Given the description of an element on the screen output the (x, y) to click on. 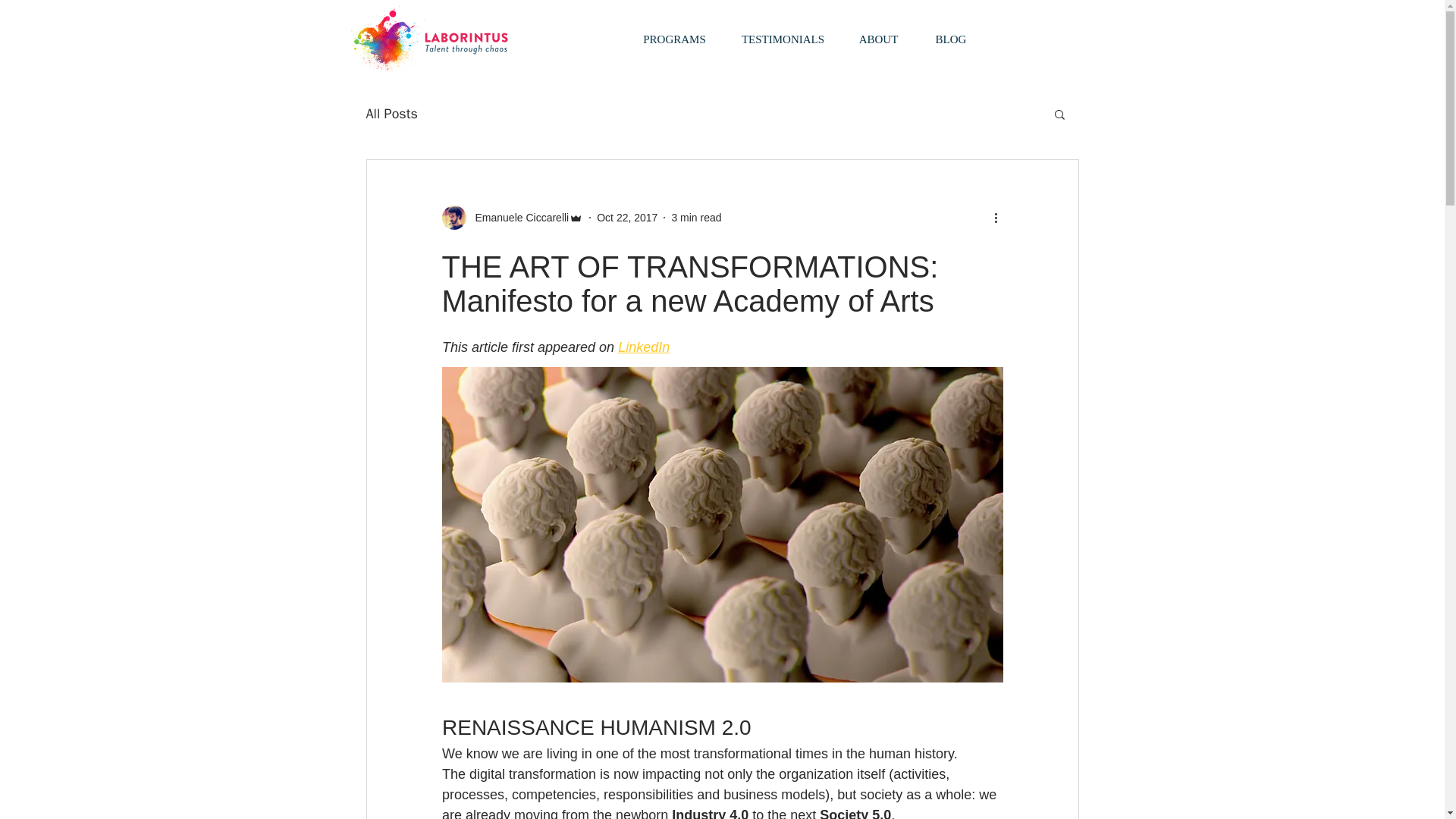
TESTIMONIALS (782, 39)
LinkedIn (643, 346)
ABOUT (877, 39)
All Posts (390, 113)
3 min read (695, 216)
PROGRAMS (674, 39)
Emanuele Ciccarelli (512, 217)
Emanuele Ciccarelli (517, 217)
Oct 22, 2017 (627, 216)
BLOG (950, 39)
